Given the description of an element on the screen output the (x, y) to click on. 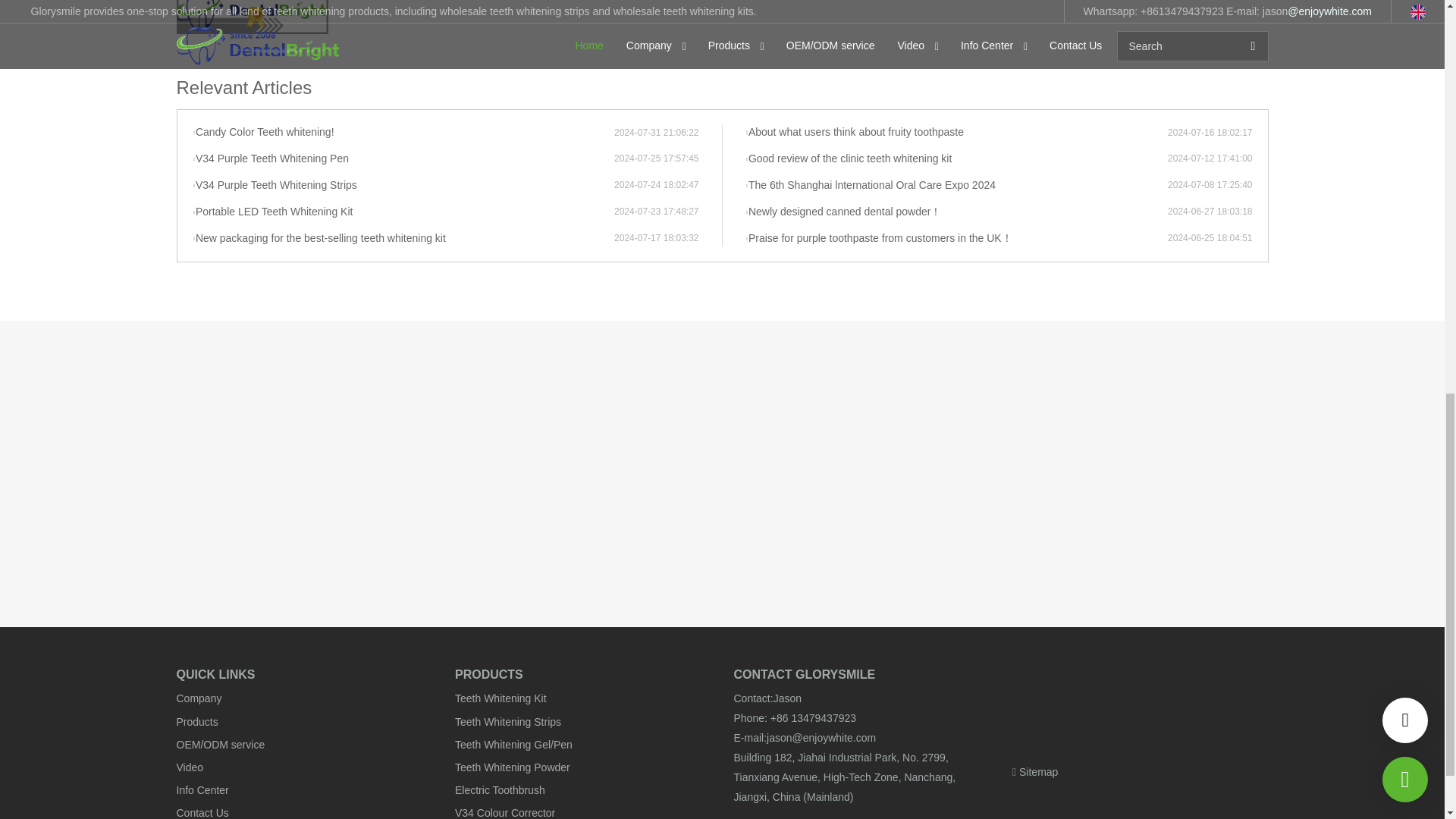
Portable LED Teeth Whitening Kit (403, 212)
Candy Color Teeth whitening! (403, 132)
V34 Purple Teeth Whitening Pen (403, 159)
V34 Purple Teeth Whitening Strips (403, 185)
